Given the description of an element on the screen output the (x, y) to click on. 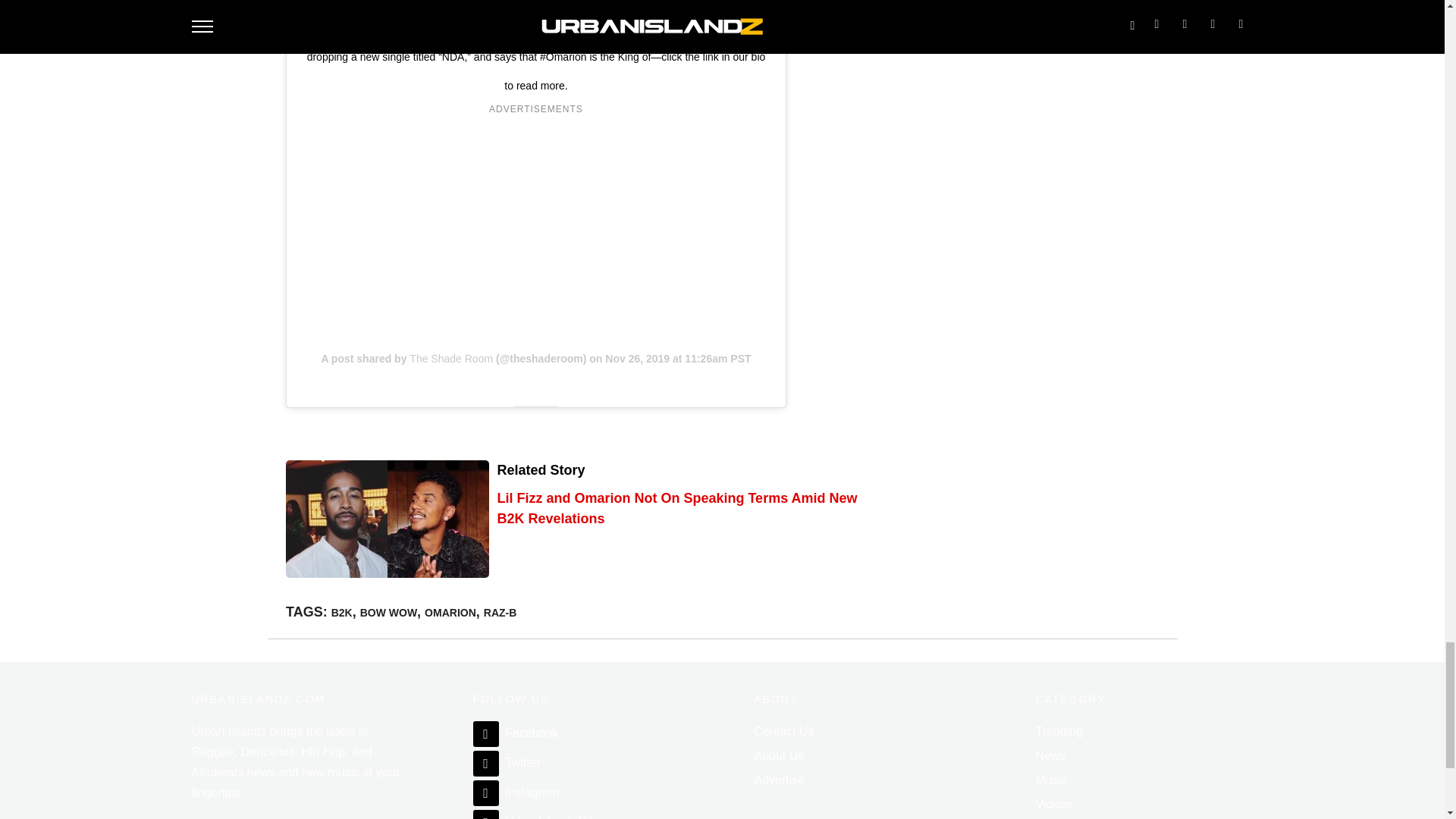
Facebook (516, 732)
